Given the description of an element on the screen output the (x, y) to click on. 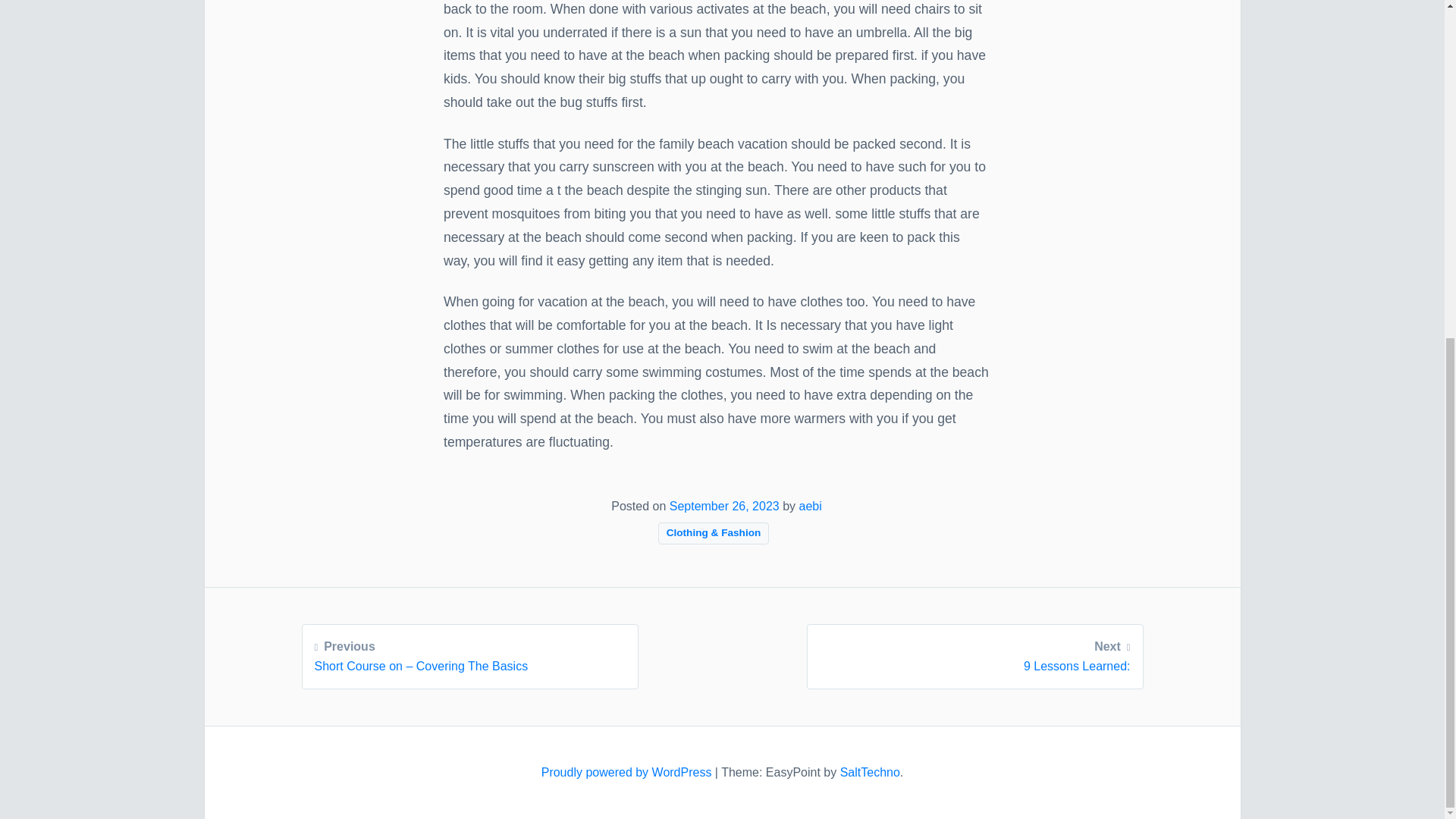
Proudly powered by WordPress (973, 654)
SaltTechno (627, 771)
September 26, 2023 (869, 771)
aebi (723, 505)
